Given the description of an element on the screen output the (x, y) to click on. 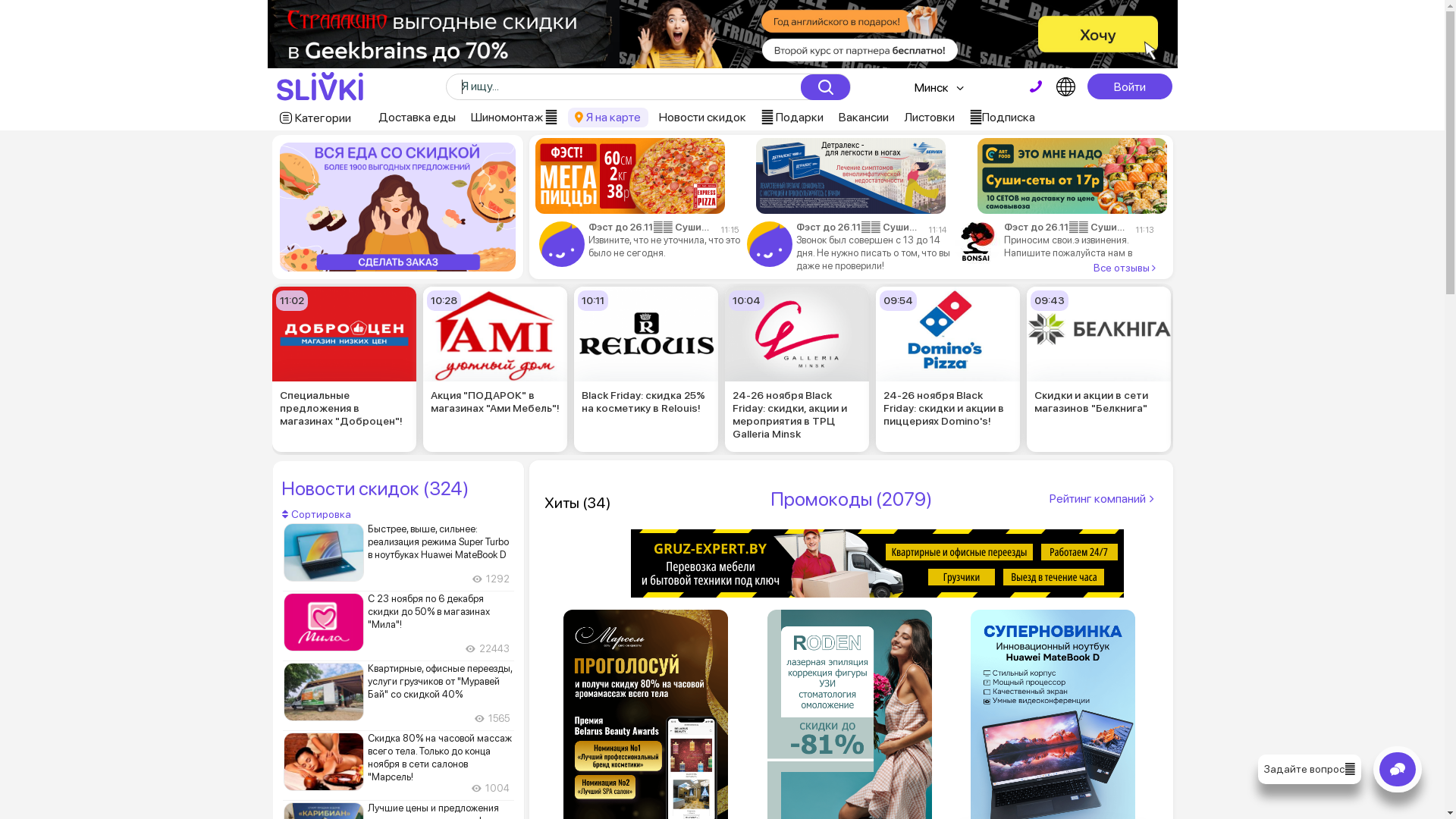
Gruz-expert.by Element type: hover (876, 563)
  Element type: text (1035, 86)
